Given the description of an element on the screen output the (x, y) to click on. 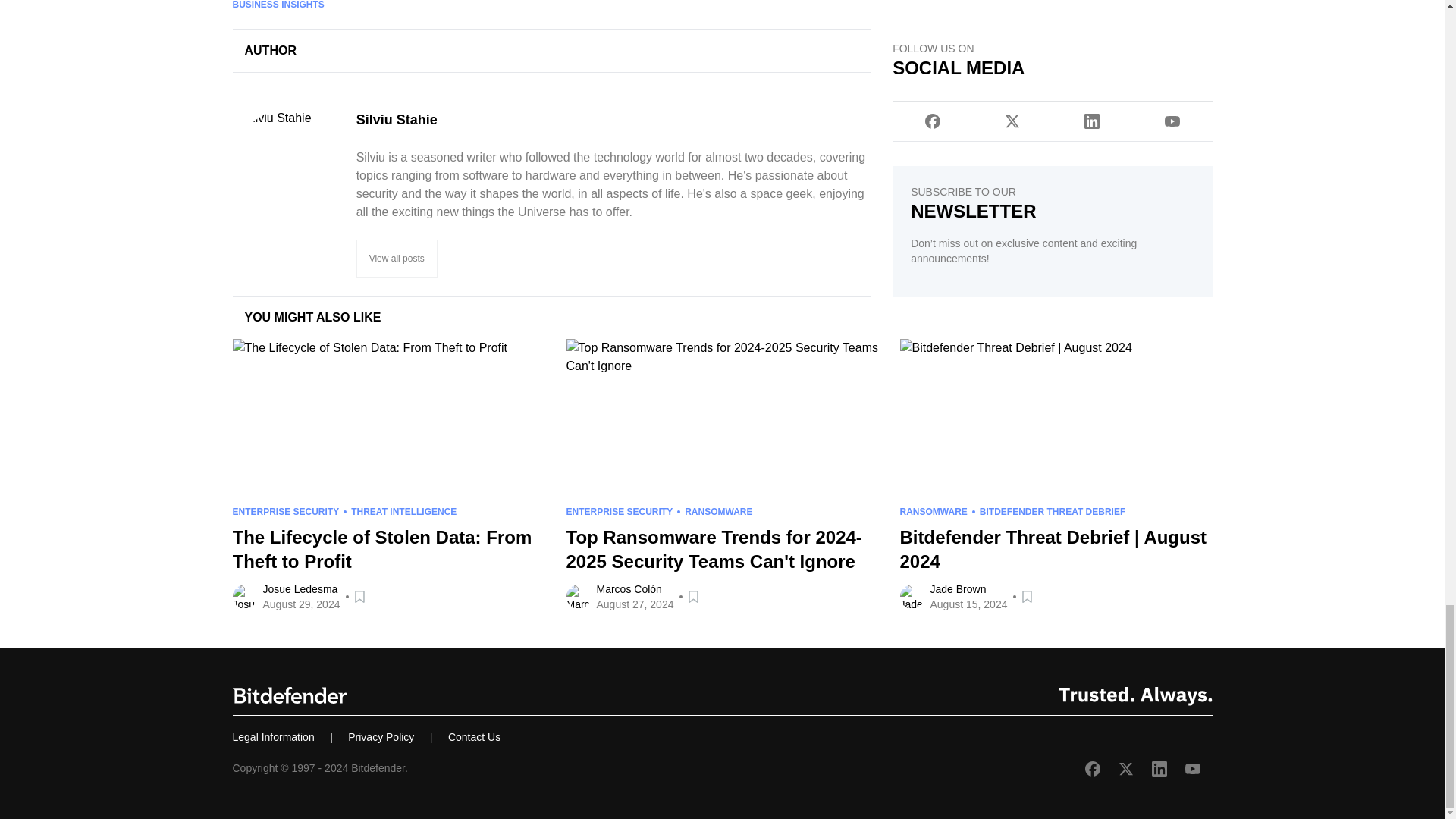
View all posts (397, 258)
BUSINESS INSIGHTS (277, 5)
Silviu Stahie (614, 119)
Silviu Stahie (287, 165)
Silviu Stahie (614, 119)
